Given the description of an element on the screen output the (x, y) to click on. 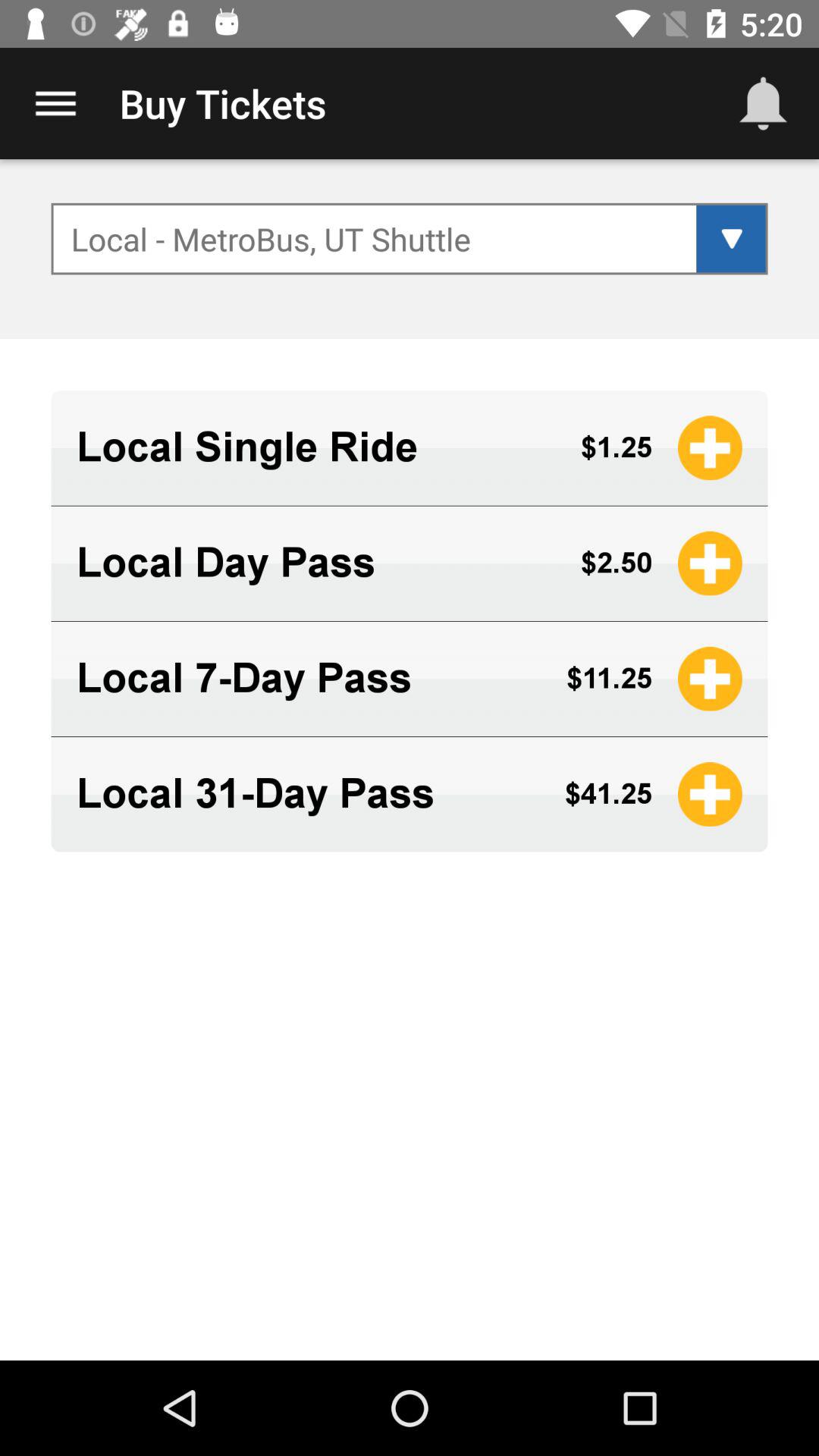
choose item to the right of buy tickets app (763, 103)
